Given the description of an element on the screen output the (x, y) to click on. 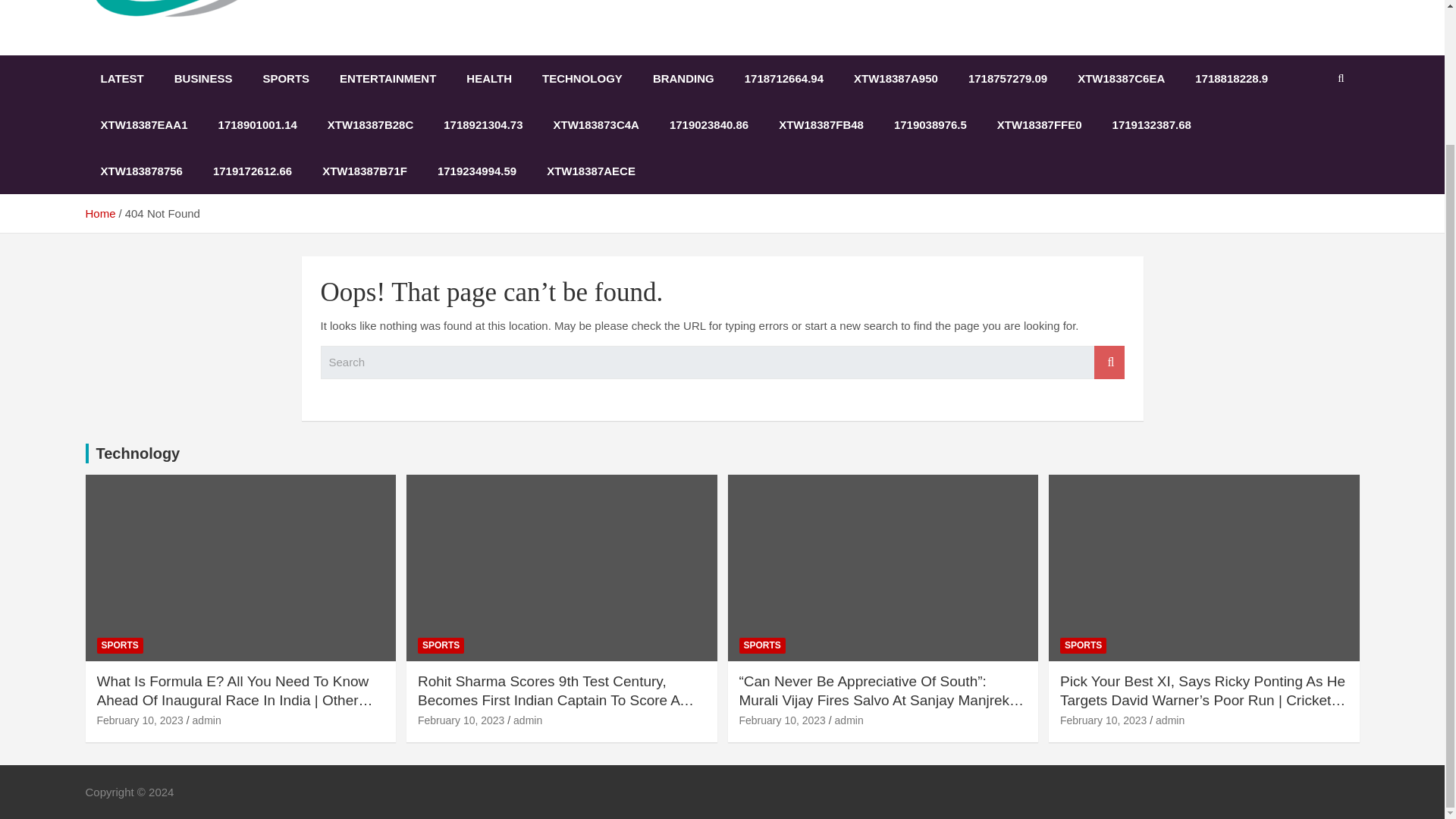
XTW183878756 (140, 171)
XTW18387A950 (895, 78)
1719132387.68 (1152, 124)
XTW18387FFE0 (1039, 124)
XTW18387C6EA (1120, 78)
XTW18387B28C (370, 124)
ENTERTAINMENT (387, 78)
1718921304.73 (482, 124)
XTW18387AECE (590, 171)
1719234994.59 (476, 171)
1718901001.14 (258, 124)
BRANDING (683, 78)
LATEST (121, 78)
1719172612.66 (252, 171)
SPORTS (119, 645)
